Given the description of an element on the screen output the (x, y) to click on. 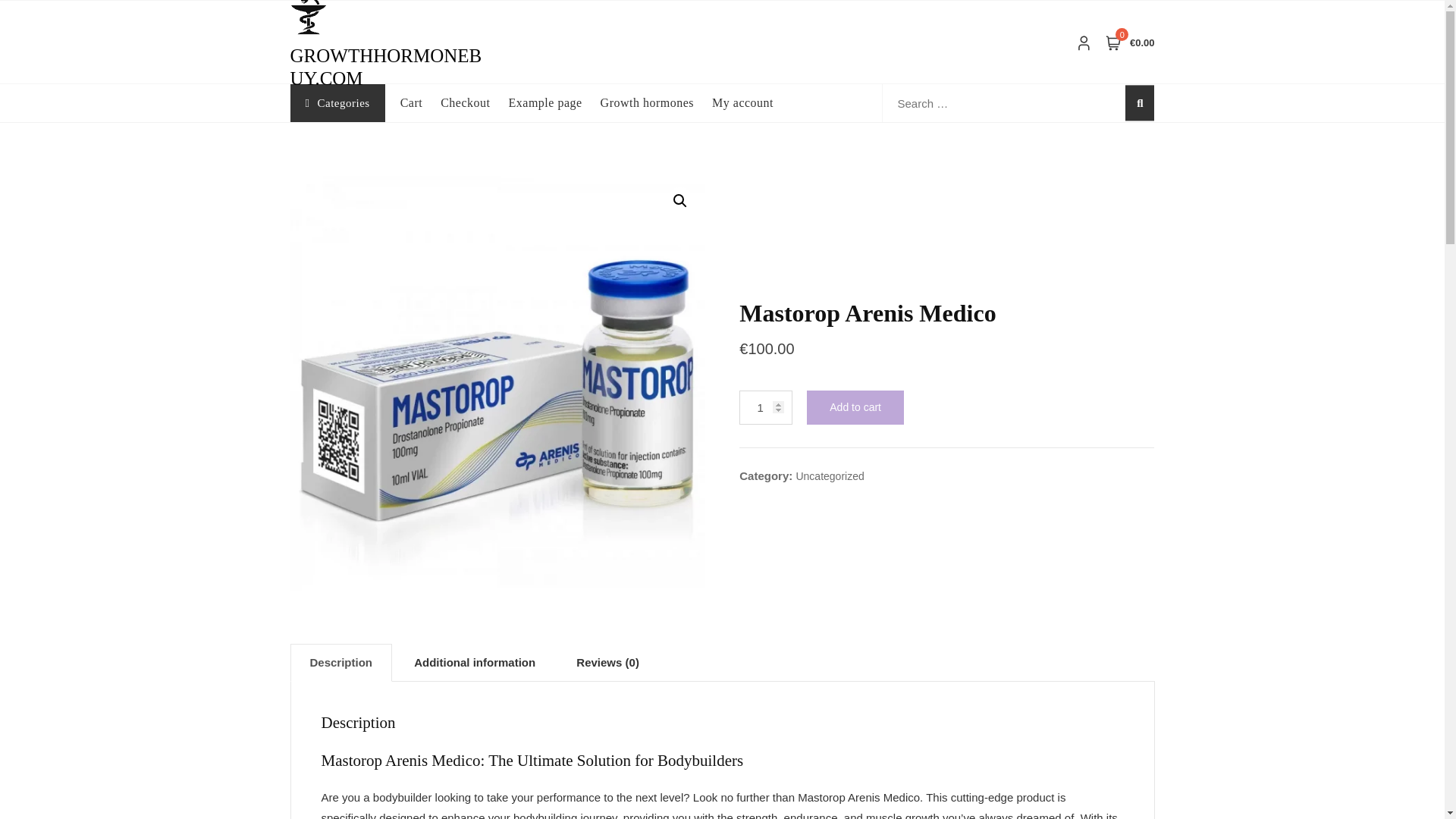
Add to cart (855, 407)
Search (136, 6)
Categories (336, 103)
Description (341, 662)
Checkout (474, 103)
Example page (553, 103)
Uncategorized (828, 475)
Cart (420, 103)
GROWTHHORMONEBUY.COM (385, 66)
My account (751, 103)
Growth hormones (655, 103)
Additional information (474, 662)
1 (765, 407)
